Given the description of an element on the screen output the (x, y) to click on. 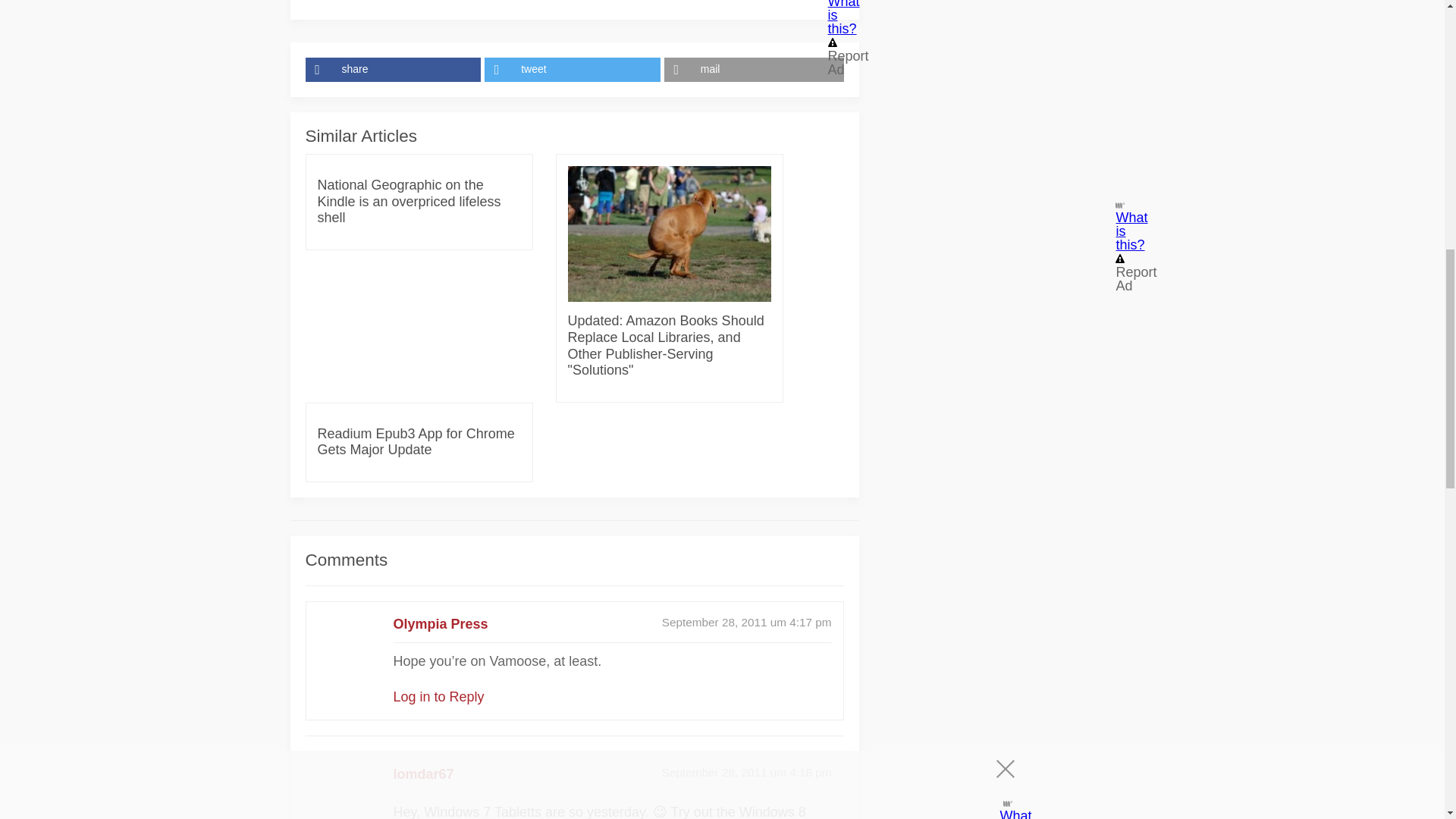
mail (753, 69)
Log in to Reply (438, 696)
tweet (573, 69)
Readium Epub3 App for Chrome Gets Major Update (418, 441)
share (394, 69)
Readium Epub3 App for Chrome Gets Major Update (418, 441)
